Given the description of an element on the screen output the (x, y) to click on. 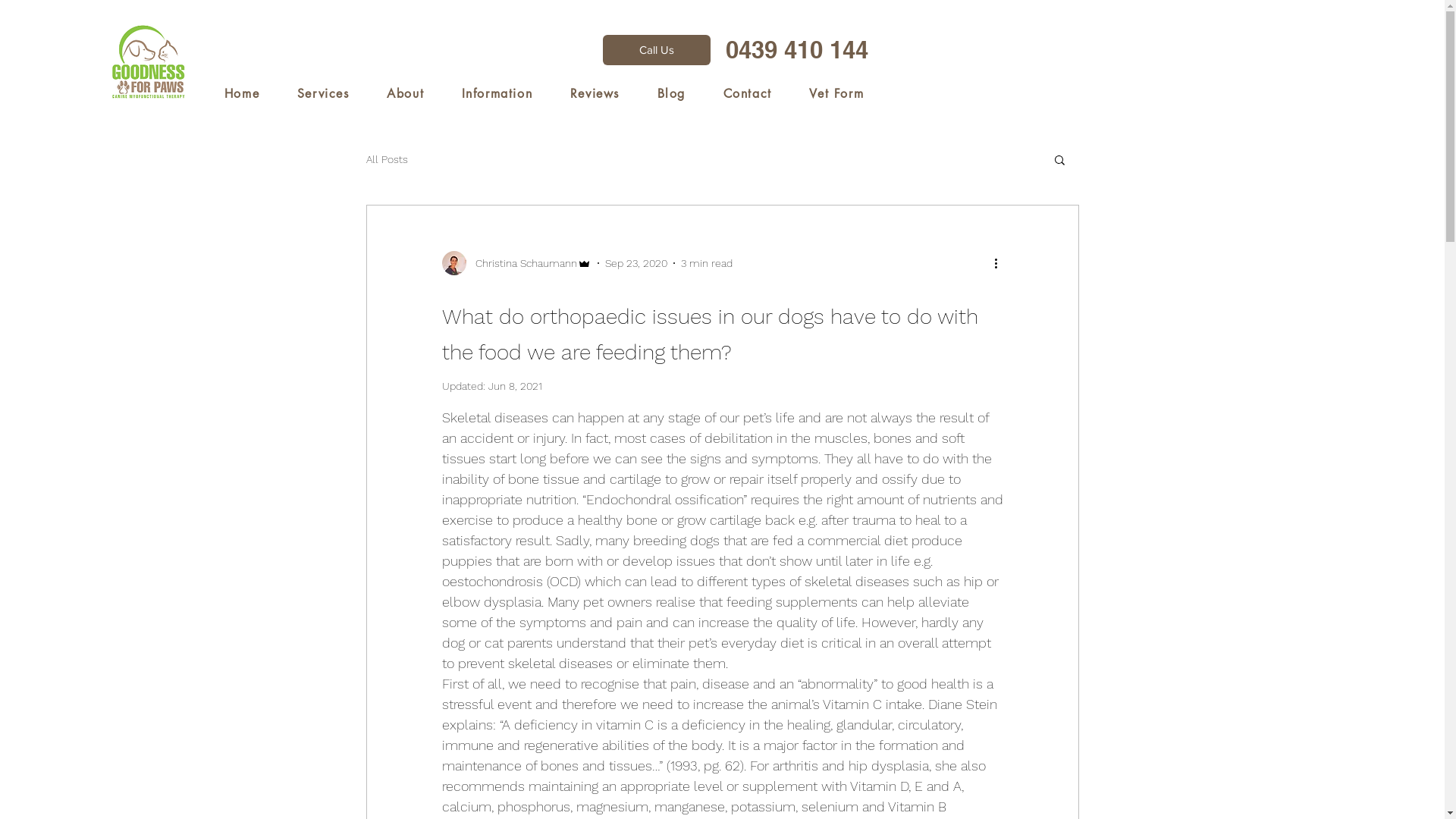
Contact Element type: text (747, 94)
All Posts Element type: text (386, 159)
Christina Schaumann Element type: text (515, 263)
Services Element type: text (322, 94)
Blog Element type: text (671, 94)
Reviews Element type: text (594, 94)
Vet Form Element type: text (836, 94)
Information Element type: text (496, 94)
Call Us Element type: text (656, 49)
Home Element type: text (241, 94)
About Element type: text (404, 94)
